Given the description of an element on the screen output the (x, y) to click on. 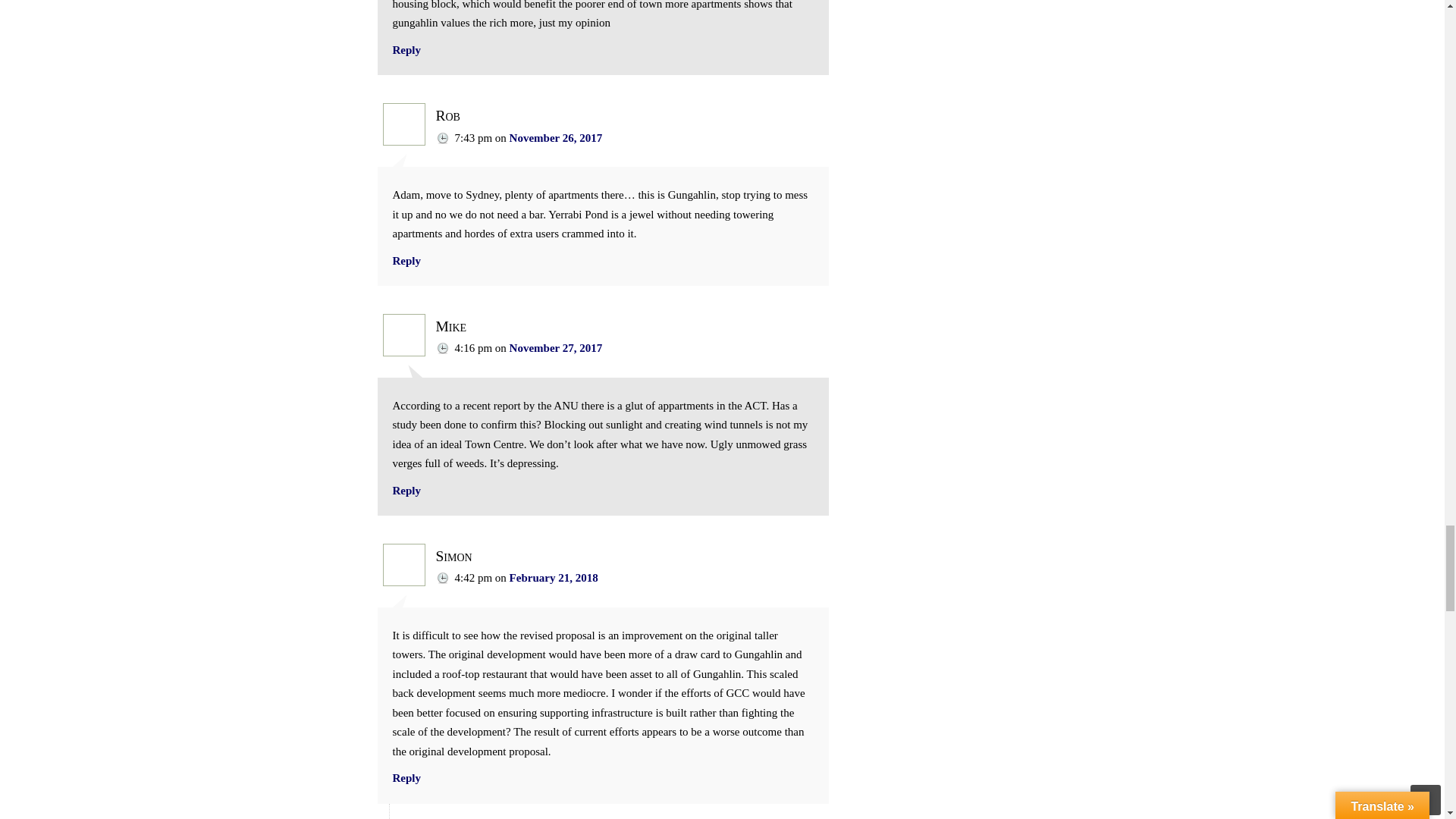
November 26, 2017 (555, 137)
November 27, 2017 (555, 347)
February 21, 2018 (553, 577)
